Given the description of an element on the screen output the (x, y) to click on. 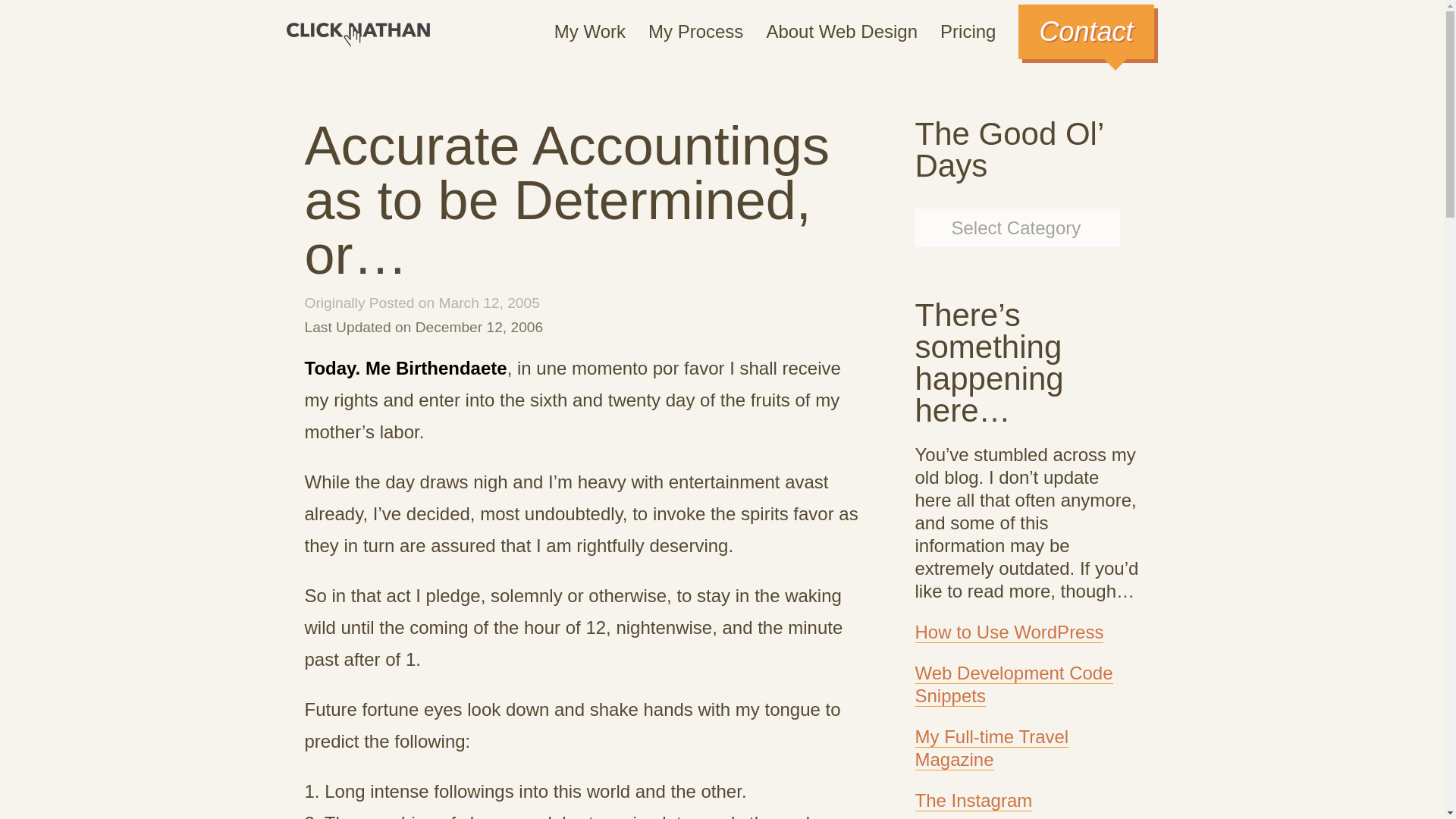
My Full-time Travel Magazine (991, 748)
Pricing (967, 31)
About Web Design (841, 31)
My Work (590, 31)
How to Use WordPress (1008, 631)
Web Development Code Snippets (1013, 684)
Contact (1085, 31)
The Instagram (973, 800)
My Process (694, 31)
